Given the description of an element on the screen output the (x, y) to click on. 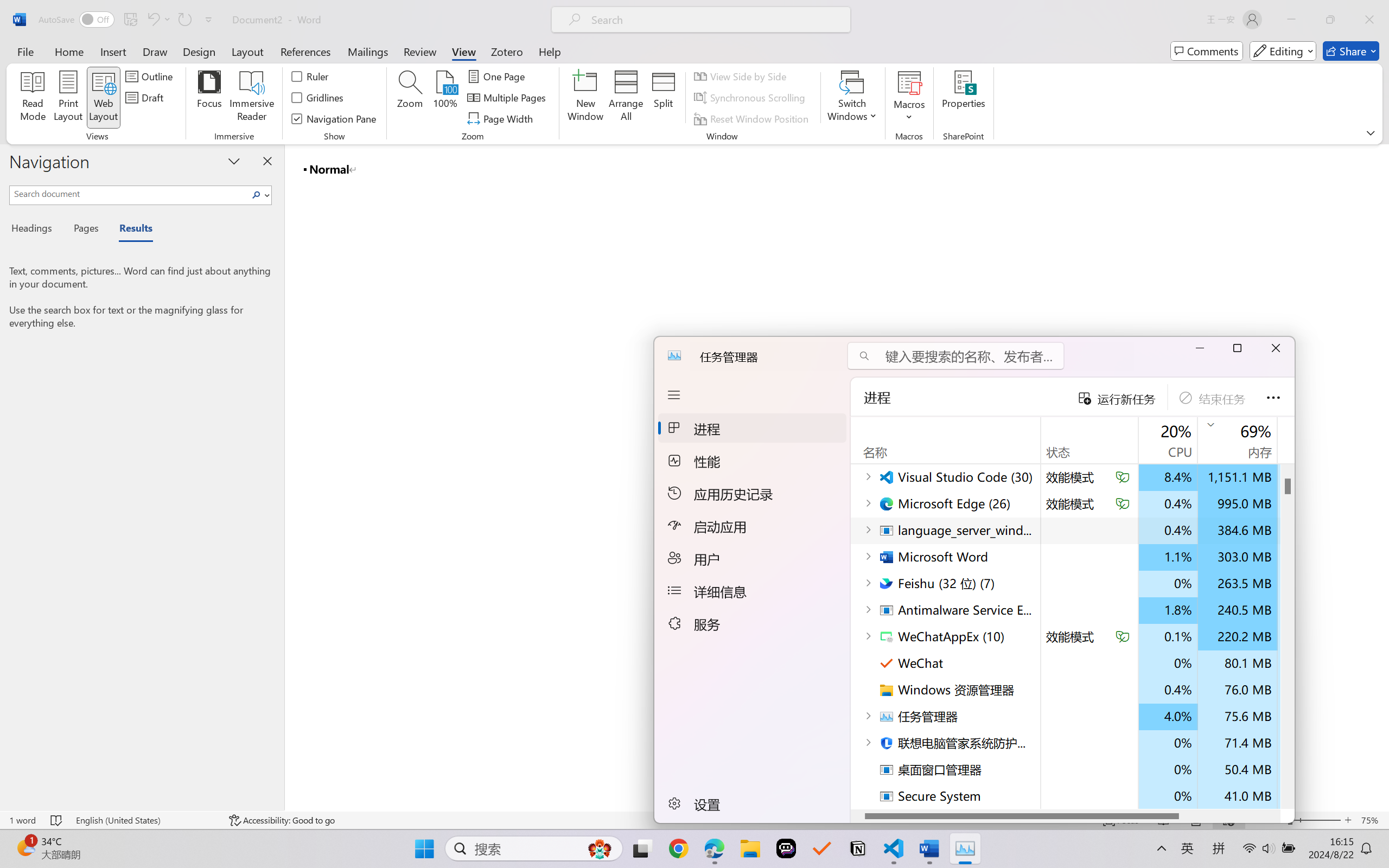
Navigation Pane (334, 118)
Multiple Pages (507, 97)
Zoom... (409, 97)
